Given the description of an element on the screen output the (x, y) to click on. 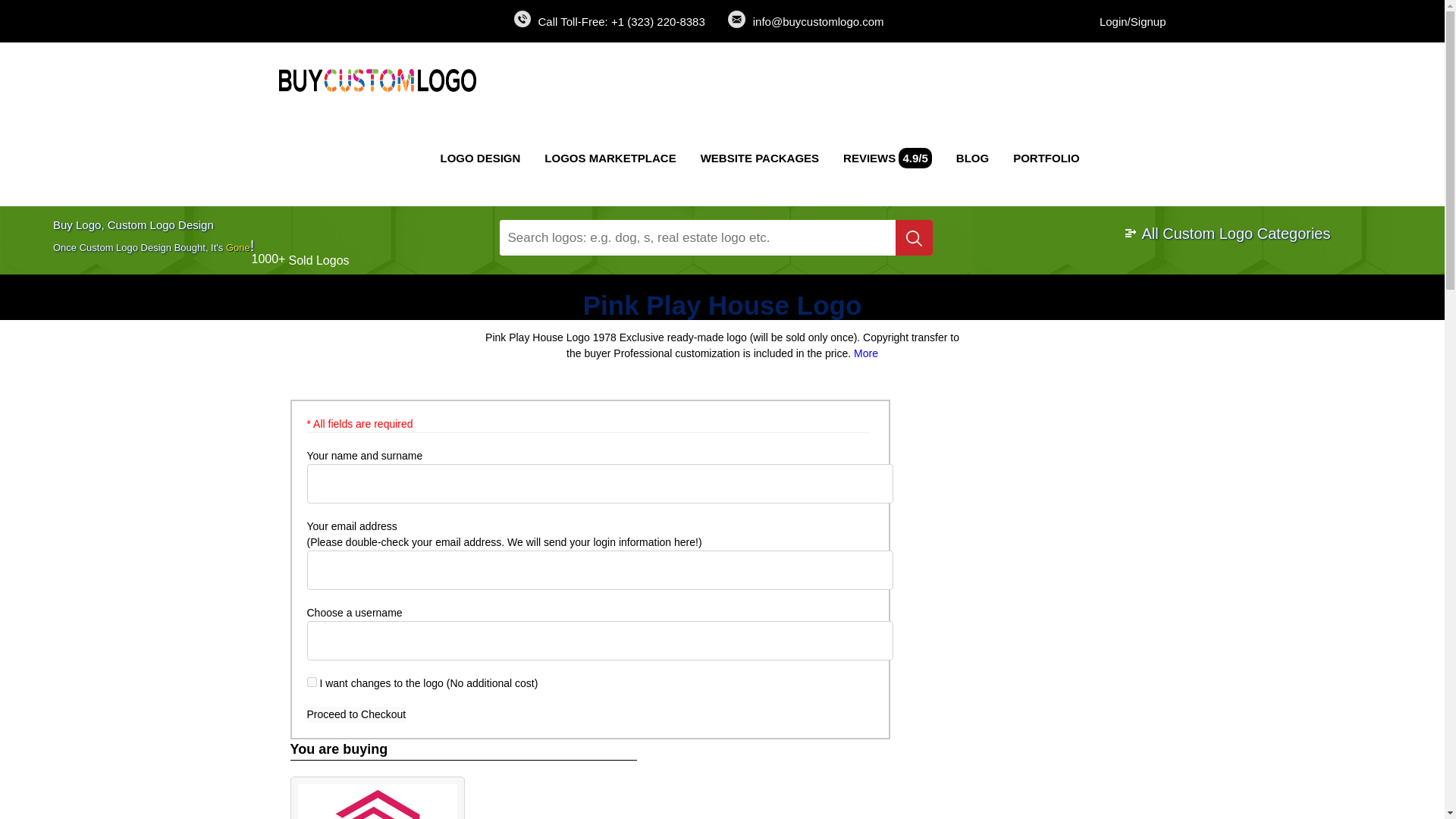
Search logos (914, 237)
More (865, 353)
Sold Logos (318, 259)
WEBSITE PACKAGES (759, 158)
PORTFOLIO (1045, 158)
BLOG (972, 158)
LOGOS MARKETPLACE (609, 158)
Proceed to Checkout (355, 714)
0 (310, 681)
All Custom Logo Categories (1227, 233)
LOGO DESIGN (480, 158)
